Given the description of an element on the screen output the (x, y) to click on. 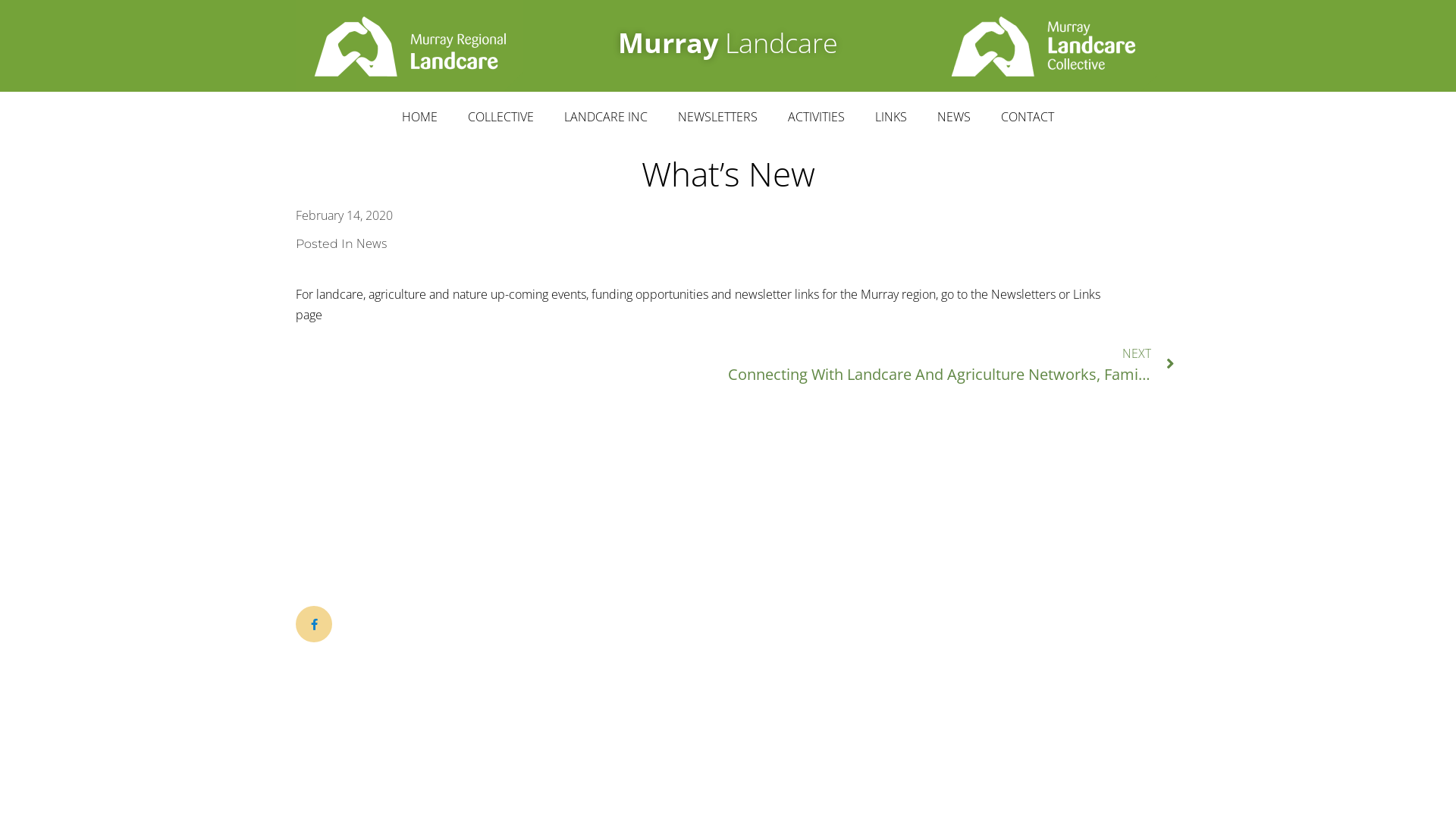
NEWS Element type: text (953, 116)
February 14, 2020 Element type: text (343, 215)
LANDCARE INC Element type: text (605, 116)
COLLECTIVE Element type: text (500, 116)
NEWSLETTERS Element type: text (717, 116)
ACTIVITIES Element type: text (815, 116)
CONTACT Element type: text (1027, 116)
HOME Element type: text (419, 116)
with by COXTECH Element type: text (1096, 620)
LINKS Element type: text (890, 116)
News Element type: text (371, 243)
